Given the description of an element on the screen output the (x, y) to click on. 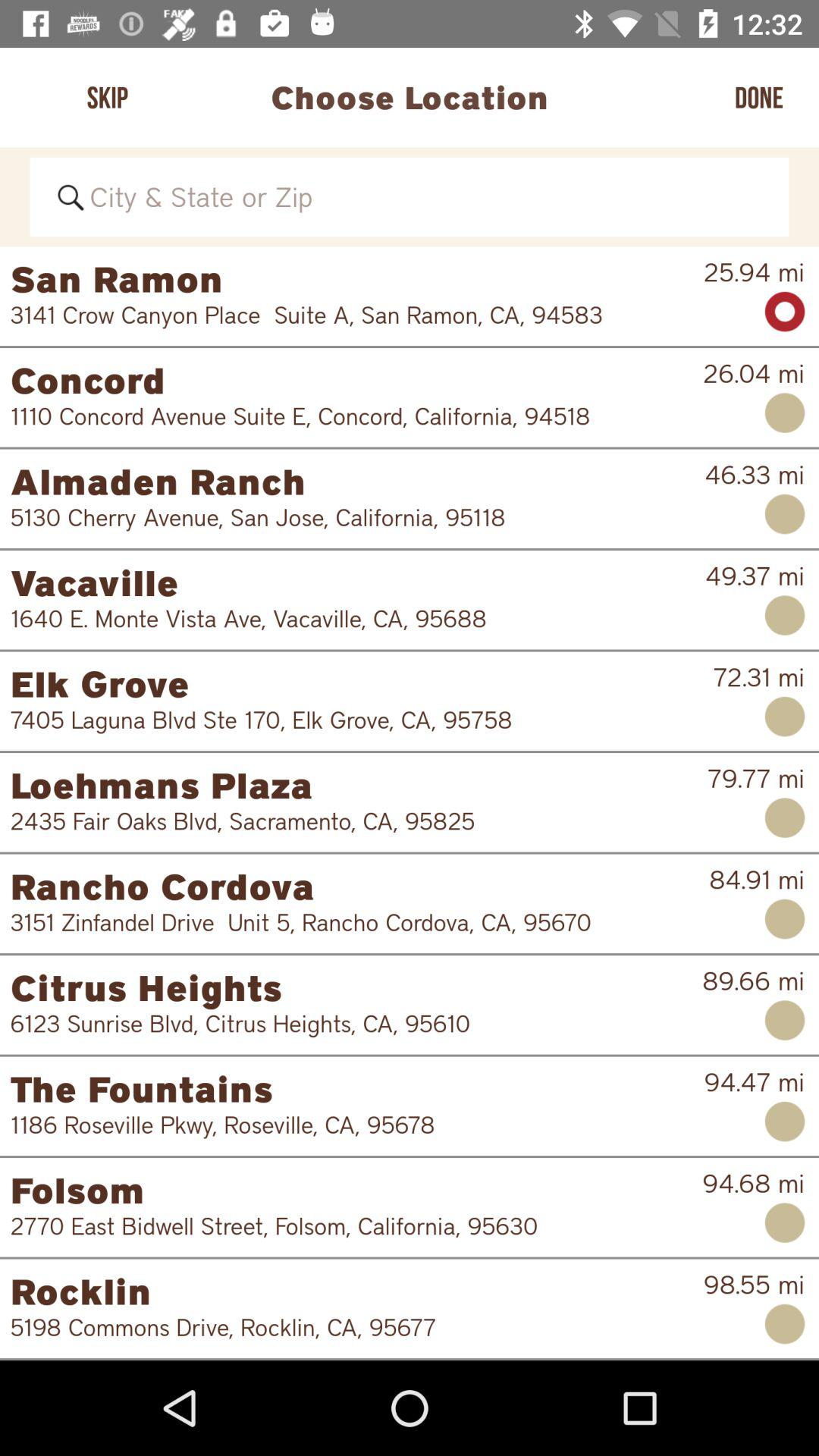
click 98.55 mi (753, 1284)
